Given the description of an element on the screen output the (x, y) to click on. 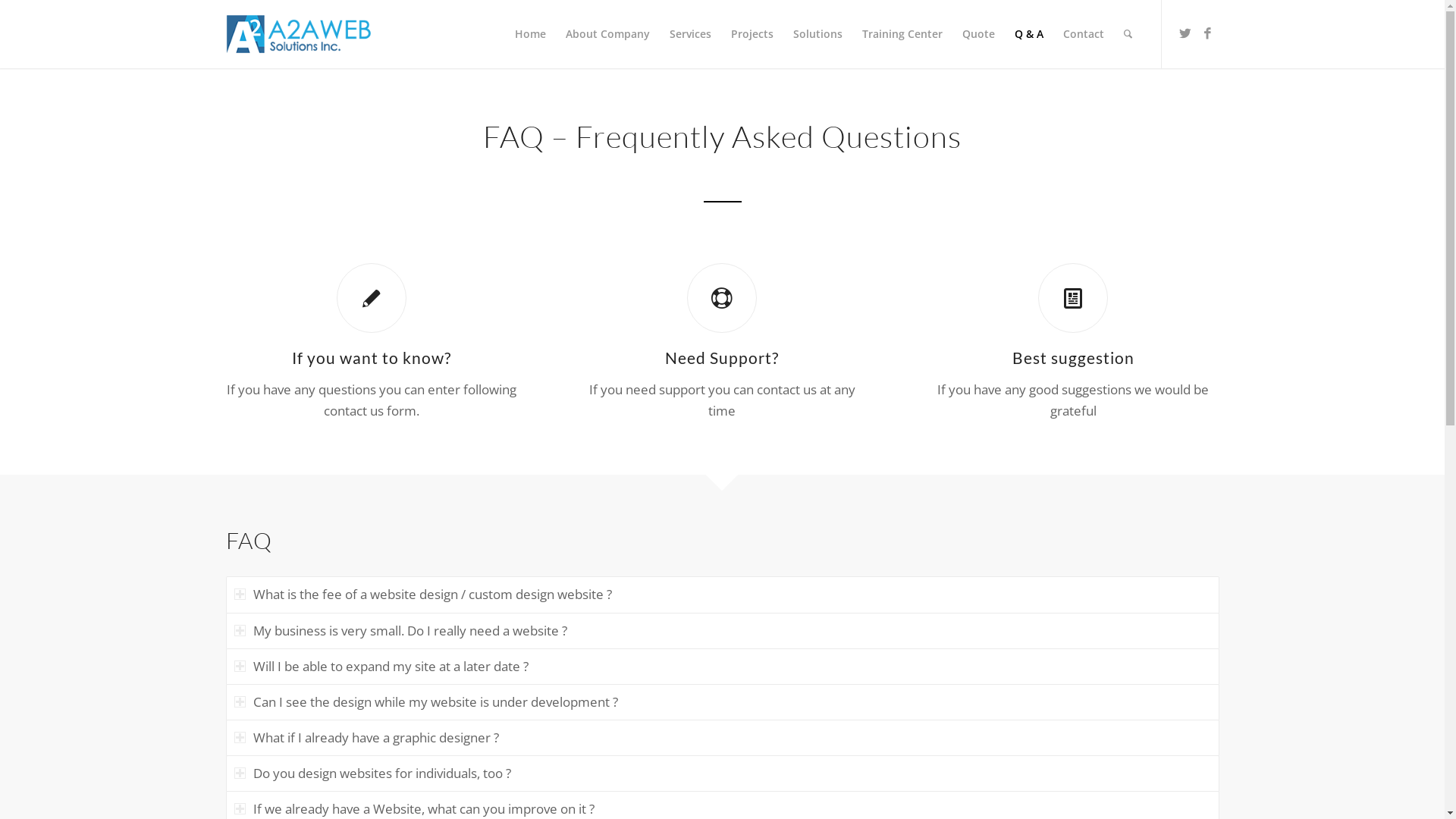
About Company Element type: text (606, 34)
Q & A Element type: text (1028, 34)
Projects Element type: text (751, 34)
Solutions Element type: text (816, 34)
Training Center Element type: text (902, 34)
Contact Element type: text (1082, 34)
Services Element type: text (690, 34)
Home Element type: text (530, 34)
Twitter Element type: hover (1184, 32)
Facebook Element type: hover (1207, 32)
Quote Element type: text (978, 34)
logo Element type: hover (310, 34)
